Given the description of an element on the screen output the (x, y) to click on. 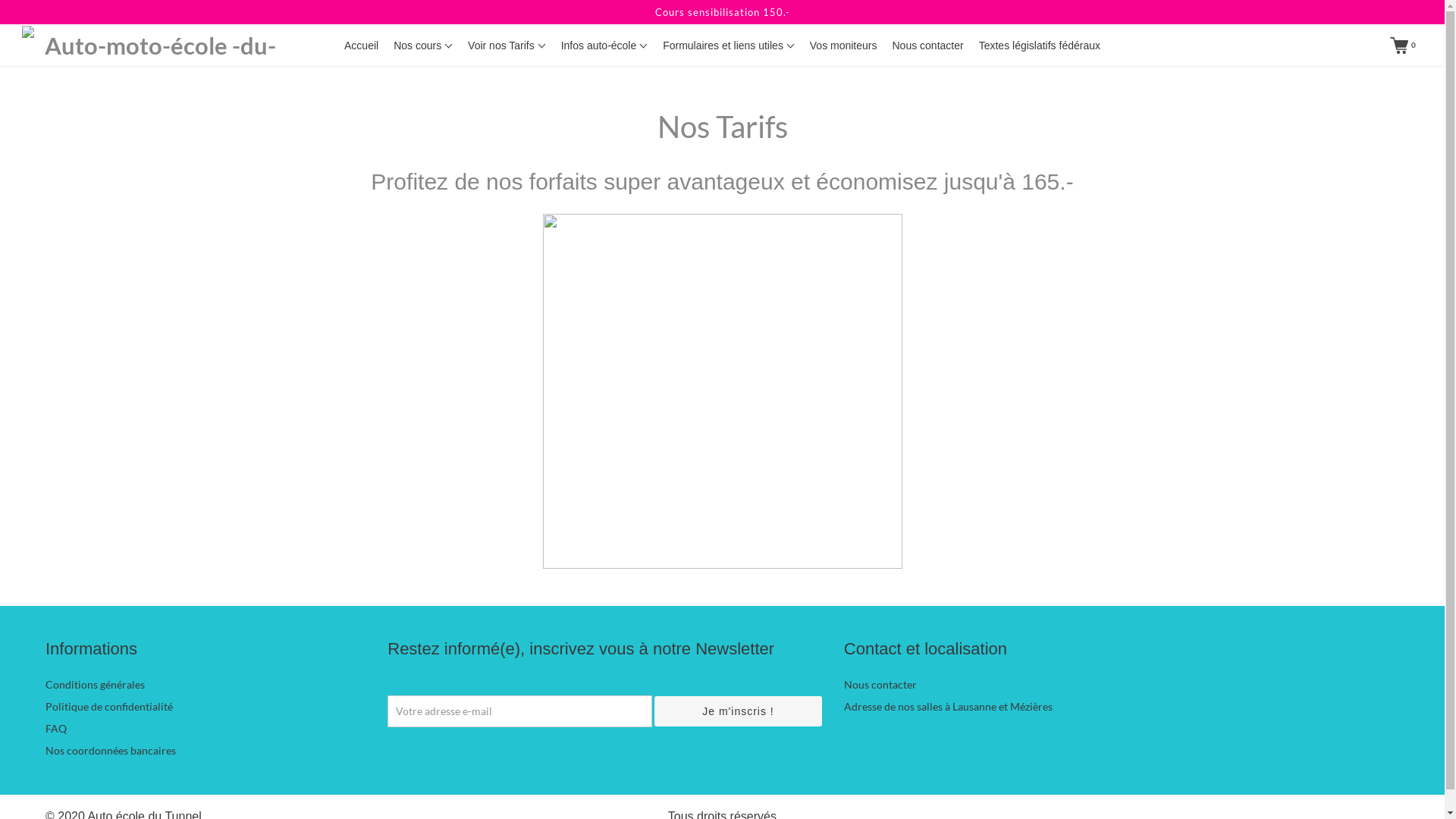
Je m'inscris ! Element type: text (738, 711)
Voir nos Tarifs Element type: text (506, 45)
Nos cours Element type: text (422, 45)
0 Element type: text (1402, 45)
Vos moniteurs Element type: text (843, 45)
Nous contacter Element type: text (880, 683)
Formulaires et liens utiles Element type: text (728, 45)
Nous contacter Element type: text (927, 45)
FAQ Element type: text (55, 727)
Cours sensibilisation 150.- Element type: text (722, 12)
Accueil Element type: text (360, 45)
